Given the description of an element on the screen output the (x, y) to click on. 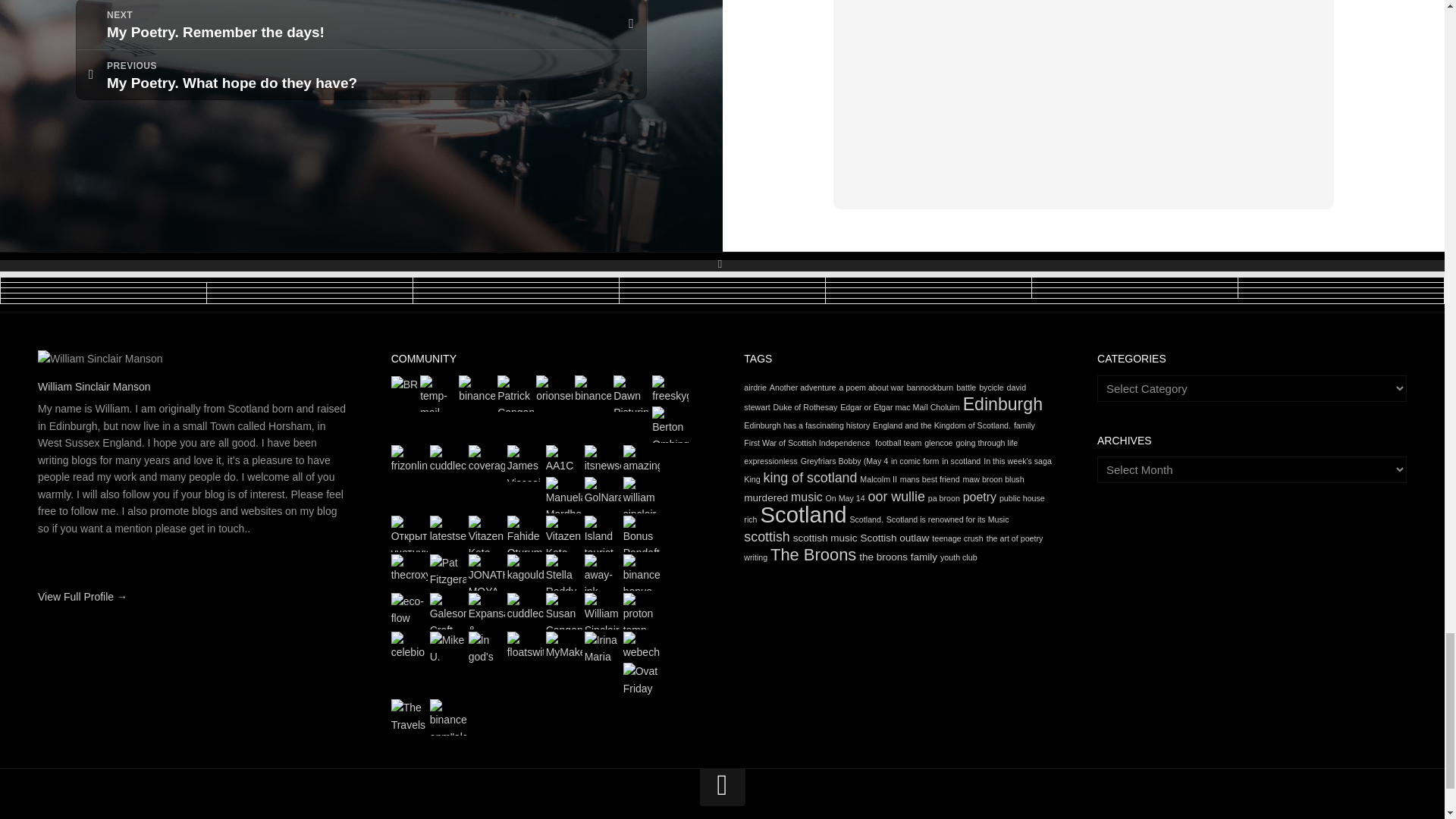
William Sinclair Manson (94, 386)
